Given the description of an element on the screen output the (x, y) to click on. 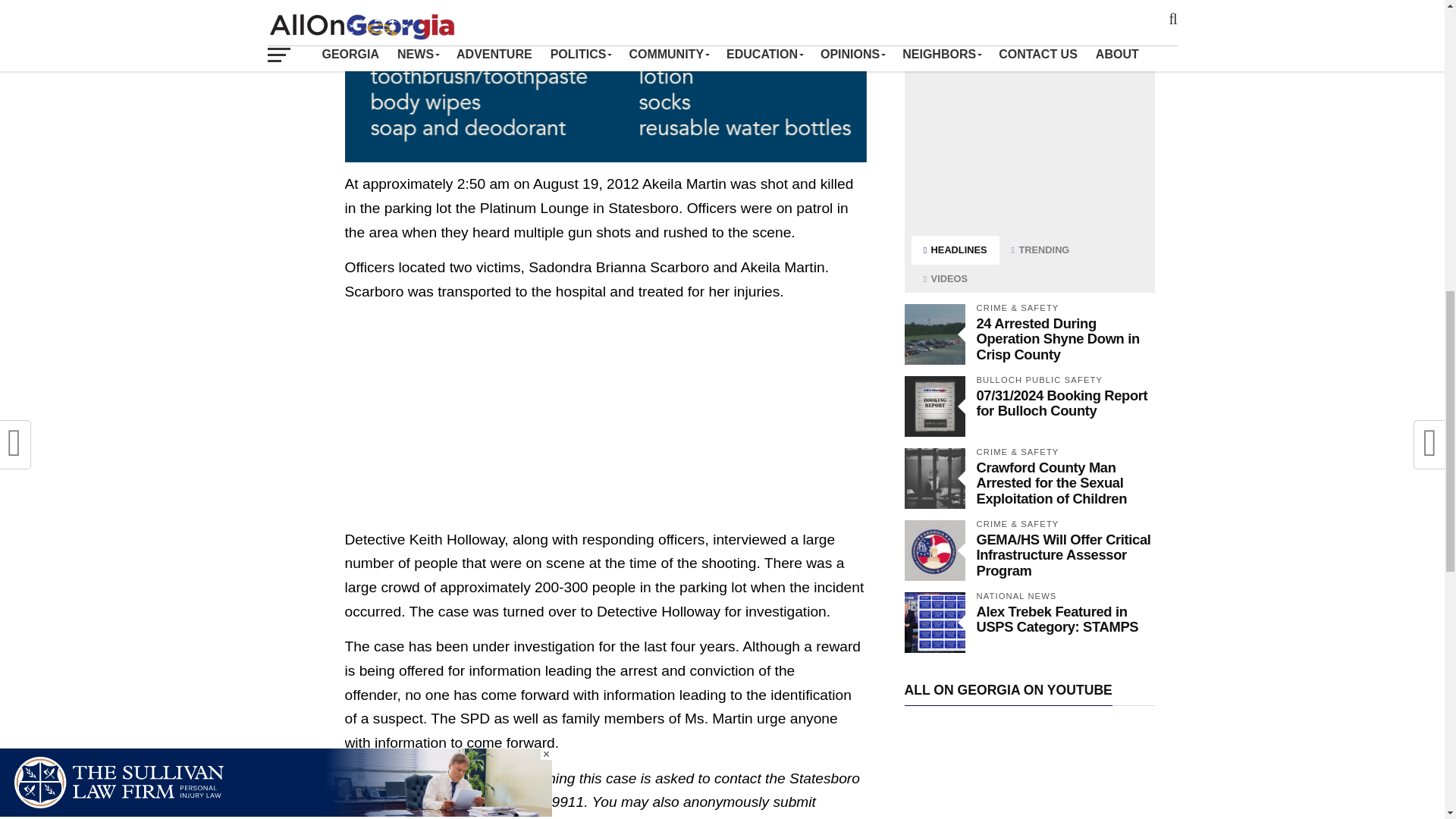
Advertisement (604, 421)
YouTube video player (1029, 769)
Advertisement (1029, 125)
